Given the description of an element on the screen output the (x, y) to click on. 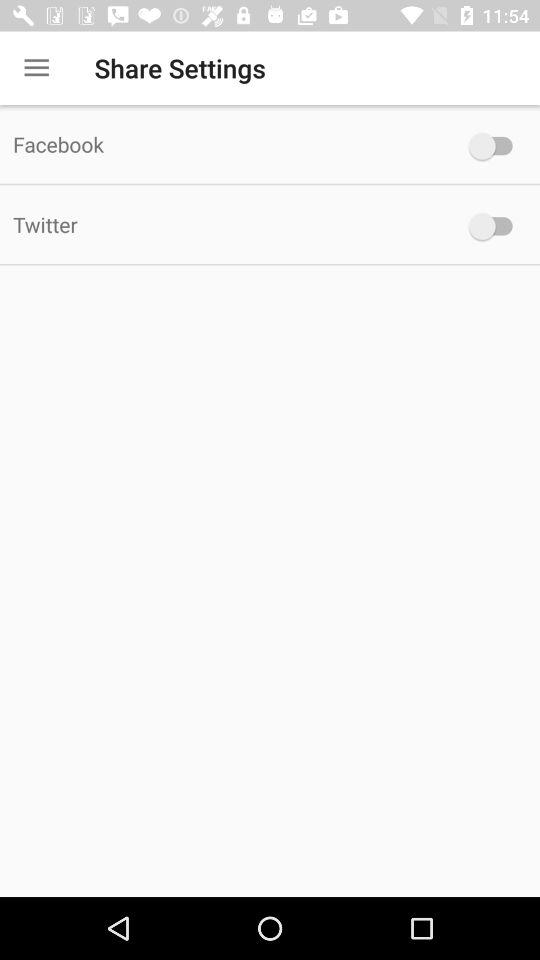
press the icon at the top left corner (36, 68)
